Given the description of an element on the screen output the (x, y) to click on. 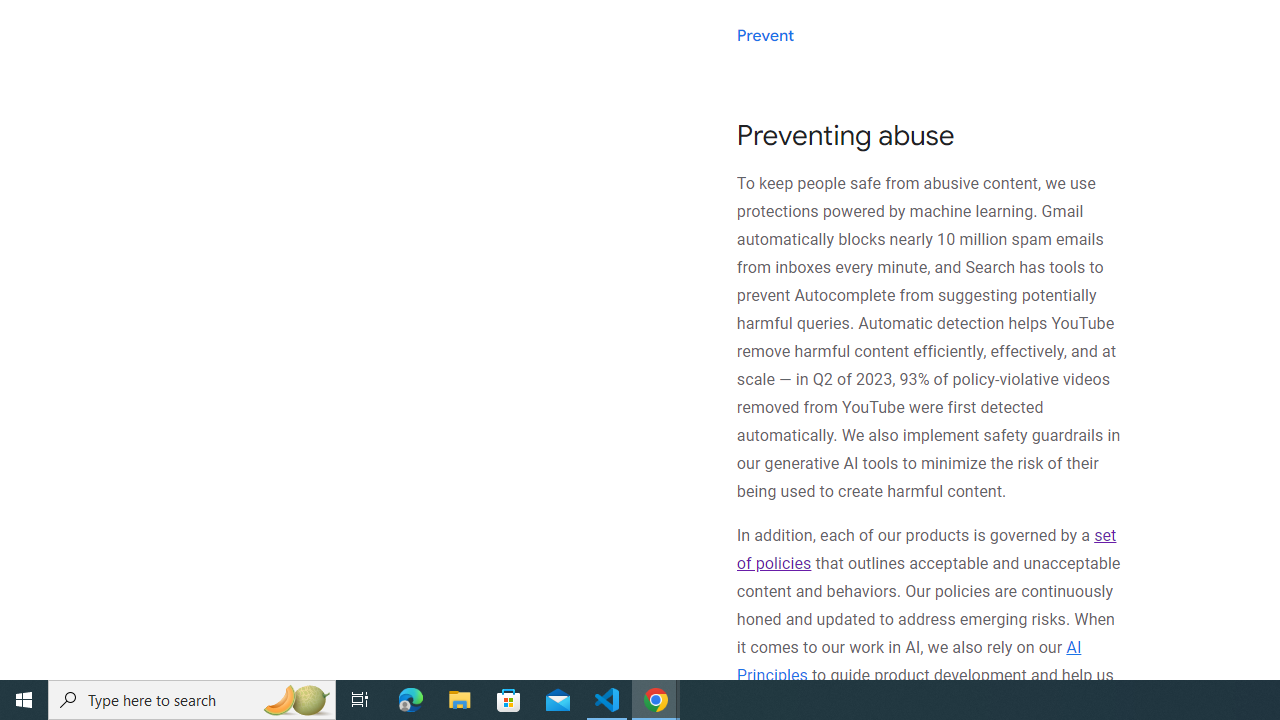
set of policies (926, 549)
AI Principles (908, 660)
